Given the description of an element on the screen output the (x, y) to click on. 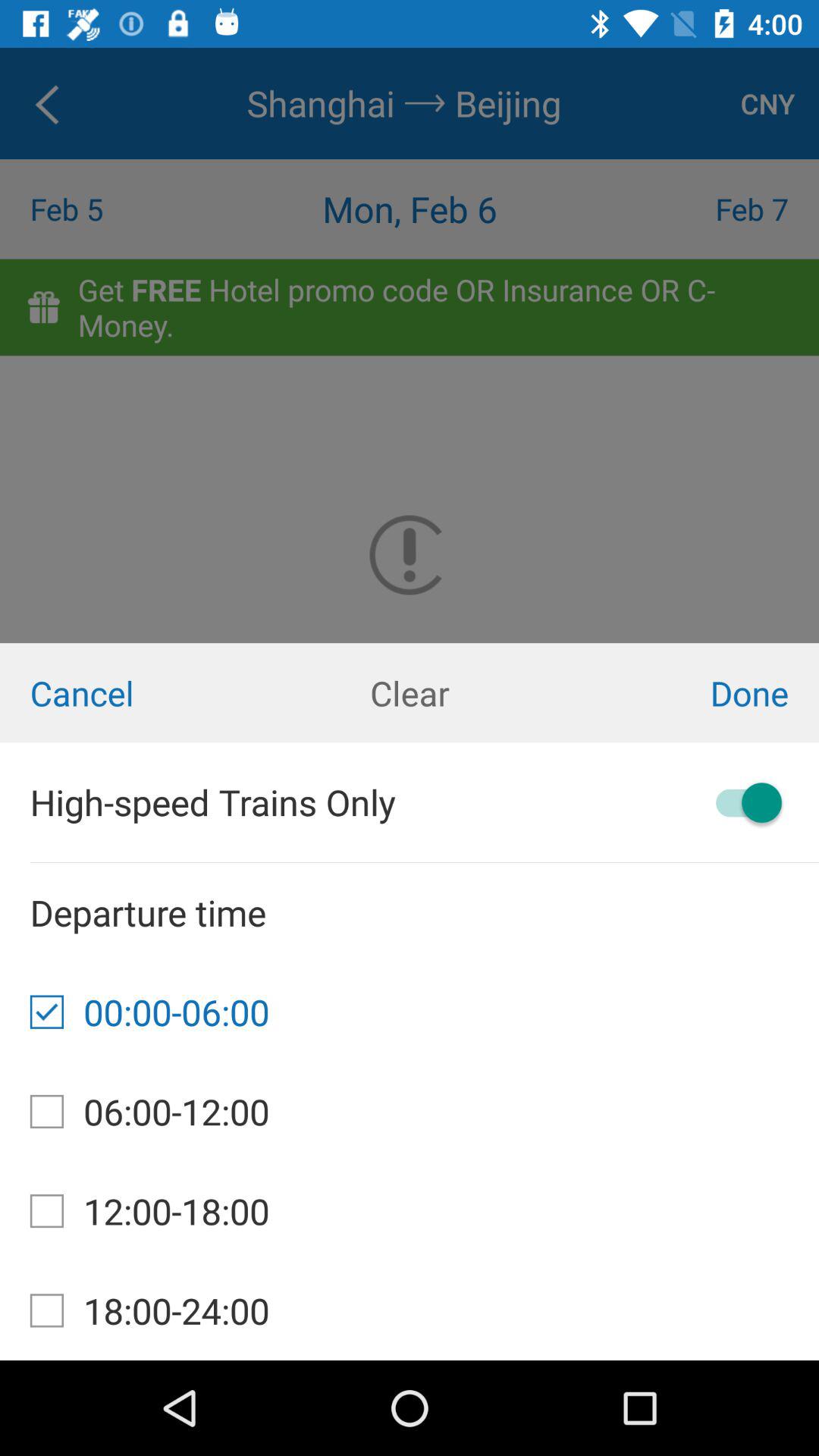
toggle high-speed trains only (741, 802)
